Given the description of an element on the screen output the (x, y) to click on. 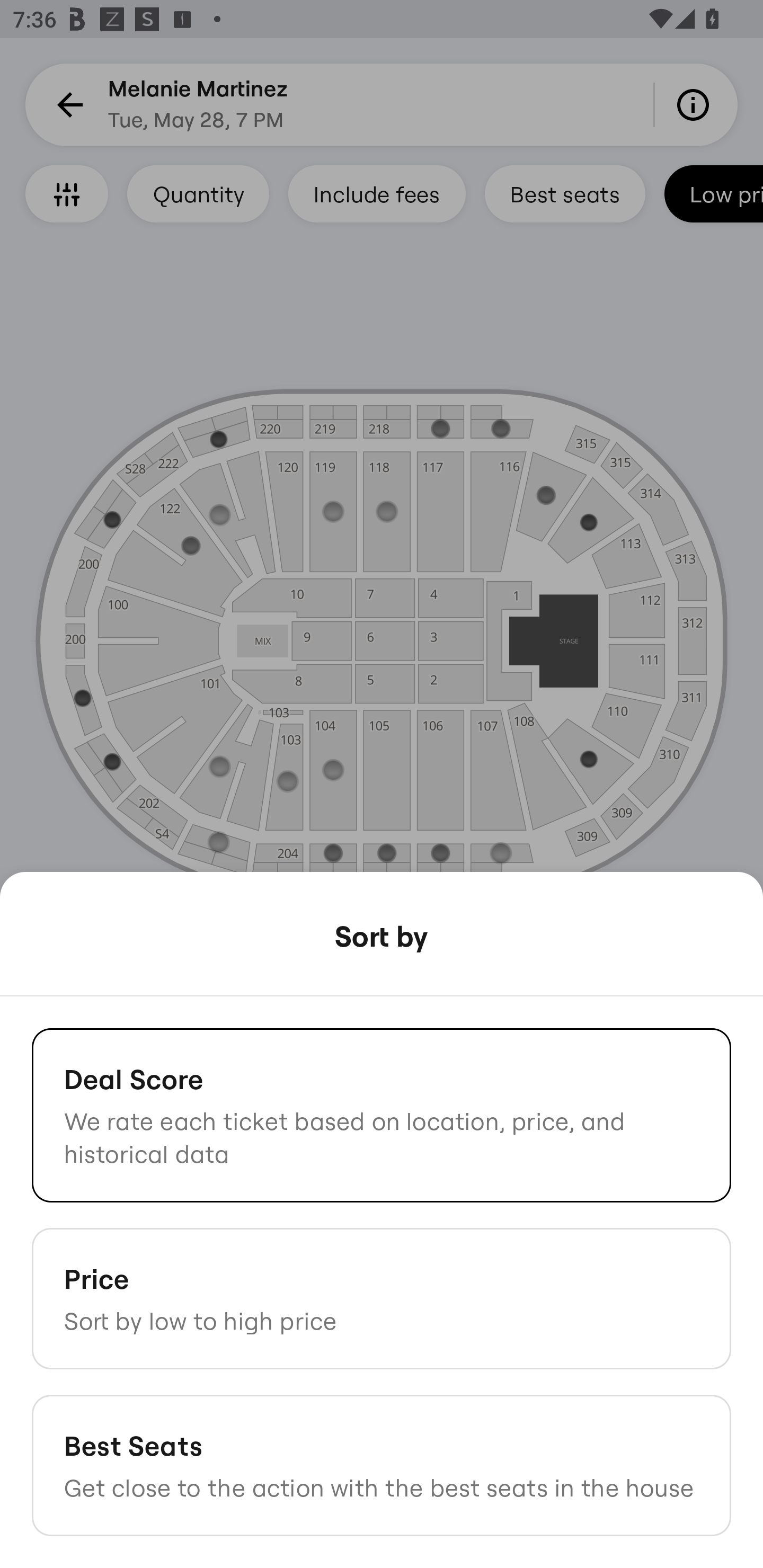
Price Sort by low to high price (381, 1297)
